Given the description of an element on the screen output the (x, y) to click on. 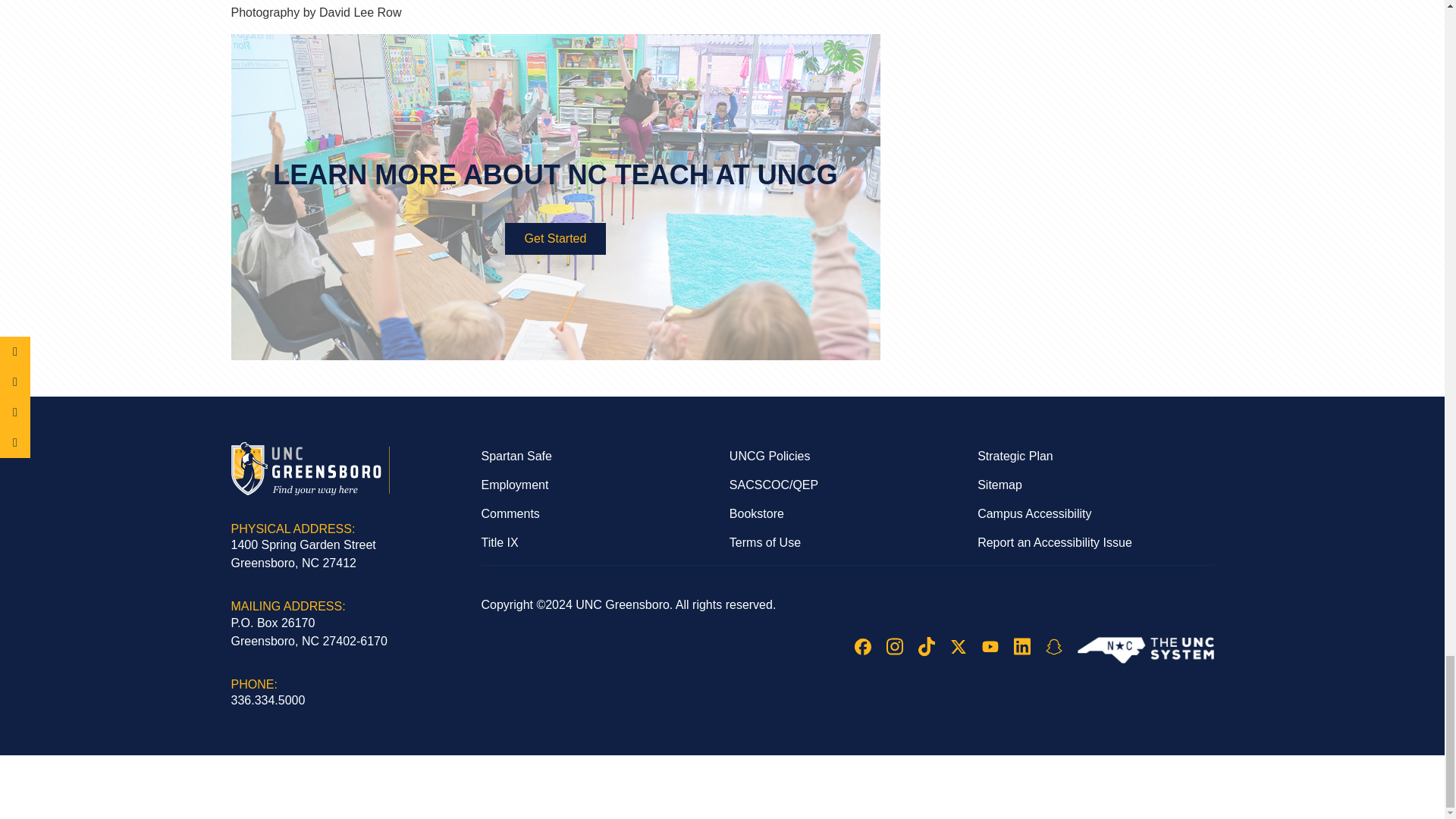
Facebook icon (861, 646)
Snapchat icon (1053, 646)
YouTube icon (989, 646)
Get Started (556, 238)
X Twitter icon (957, 646)
